Given the description of an element on the screen output the (x, y) to click on. 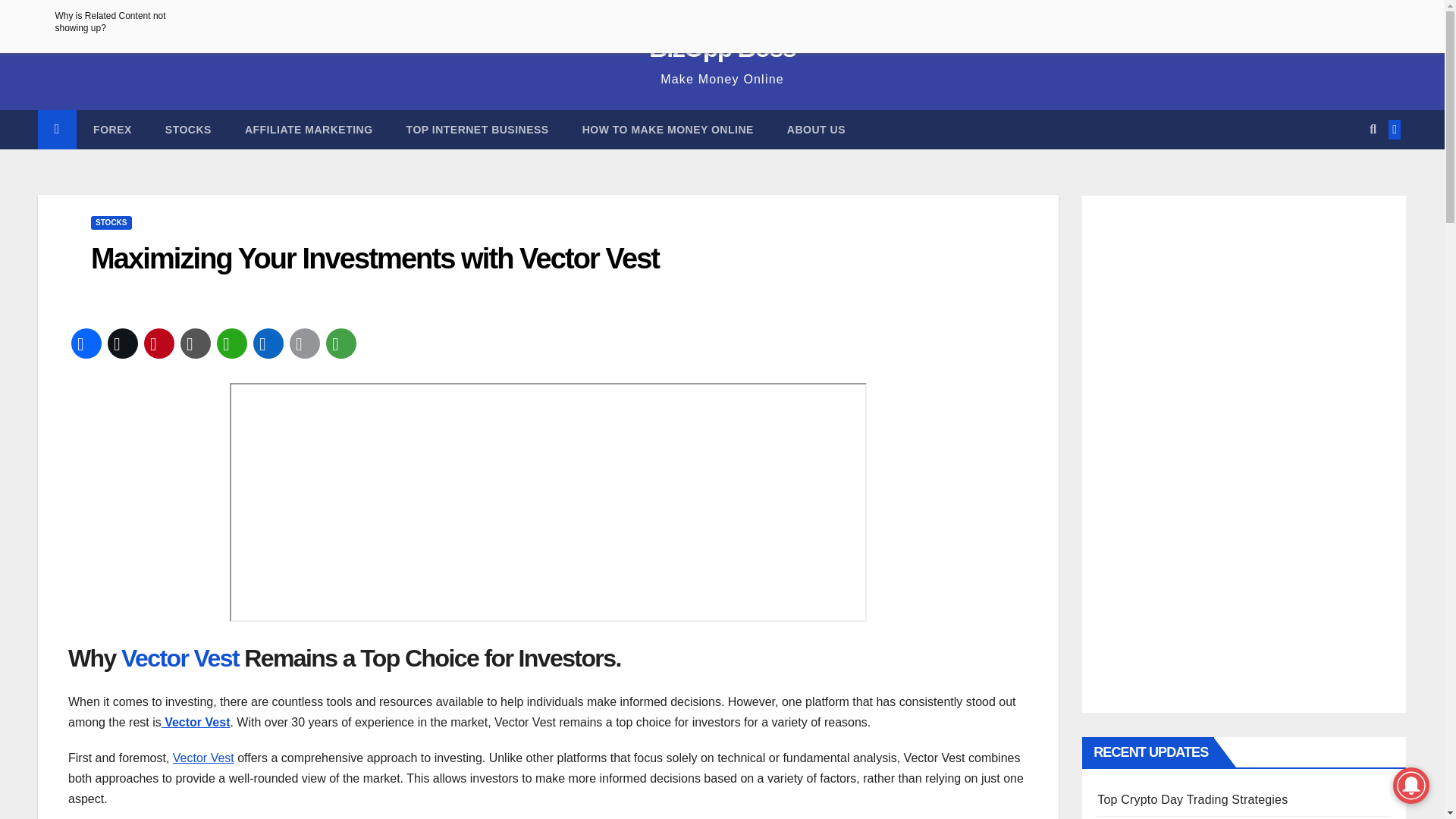
Top Internet Business (478, 129)
Permalink to: Maximizing Your Investments with Vector Vest (374, 258)
Stocks (188, 129)
STOCKS (111, 223)
ABOUT US (815, 129)
Pinterest (159, 343)
STOCKS (188, 129)
TOP INTERNET BUSINESS (478, 129)
Maximizing Your Investments with Vector Vest (374, 258)
WhatsApp (232, 343)
Facebook (86, 343)
Forex (112, 129)
Vector Vest (203, 757)
Copy Link (195, 343)
LinkedIn (268, 343)
